Given the description of an element on the screen output the (x, y) to click on. 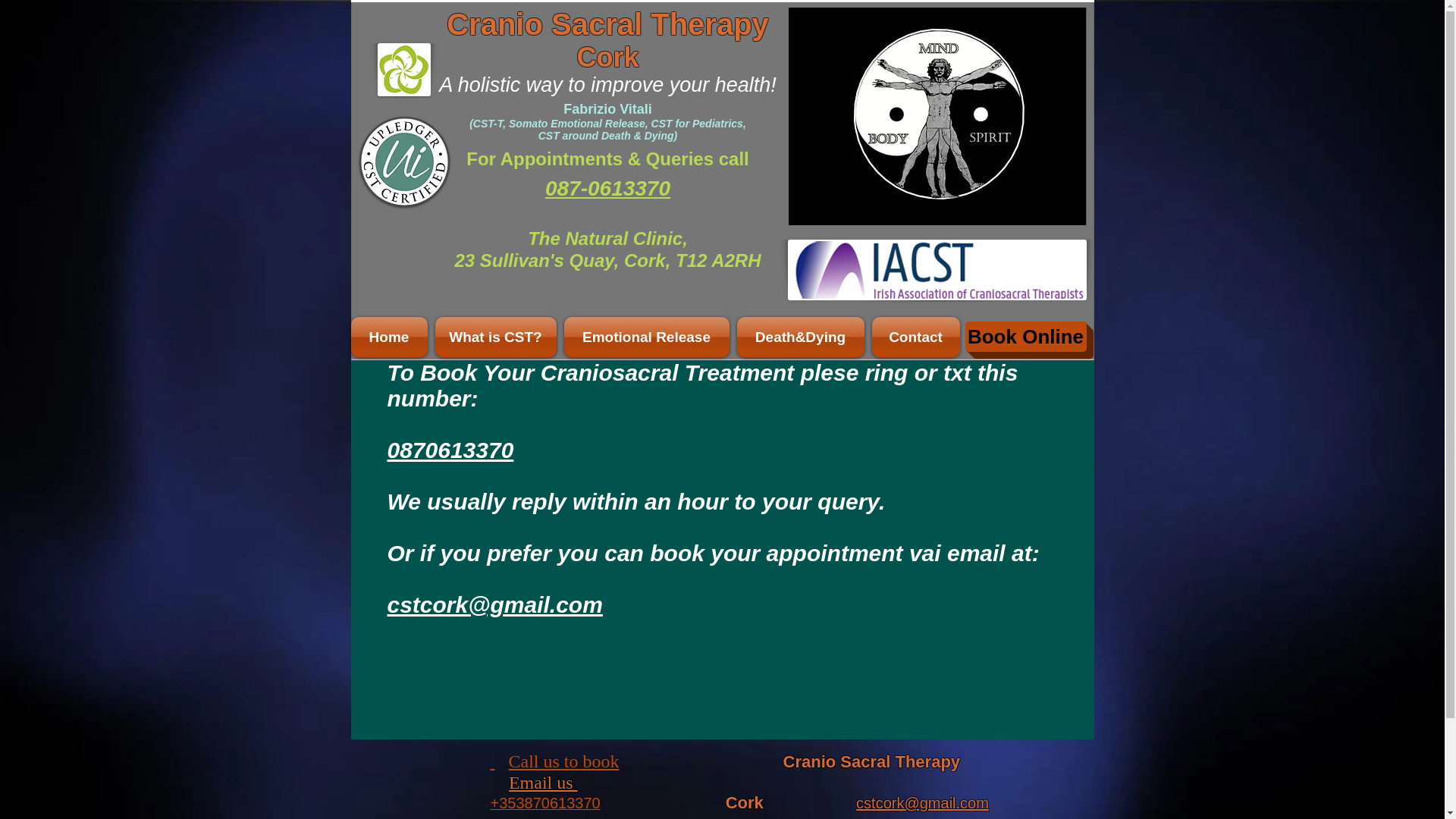
Book Online (1024, 336)
craniosacral therapy cork fabrizio vitali (403, 69)
Contact (913, 336)
087-0613370 (606, 187)
Emotional Release (645, 336)
What is CST? (494, 336)
Home (390, 336)
craniosacral therapy cork fabrizio vitali (404, 162)
0870613370 (450, 449)
